Given the description of an element on the screen output the (x, y) to click on. 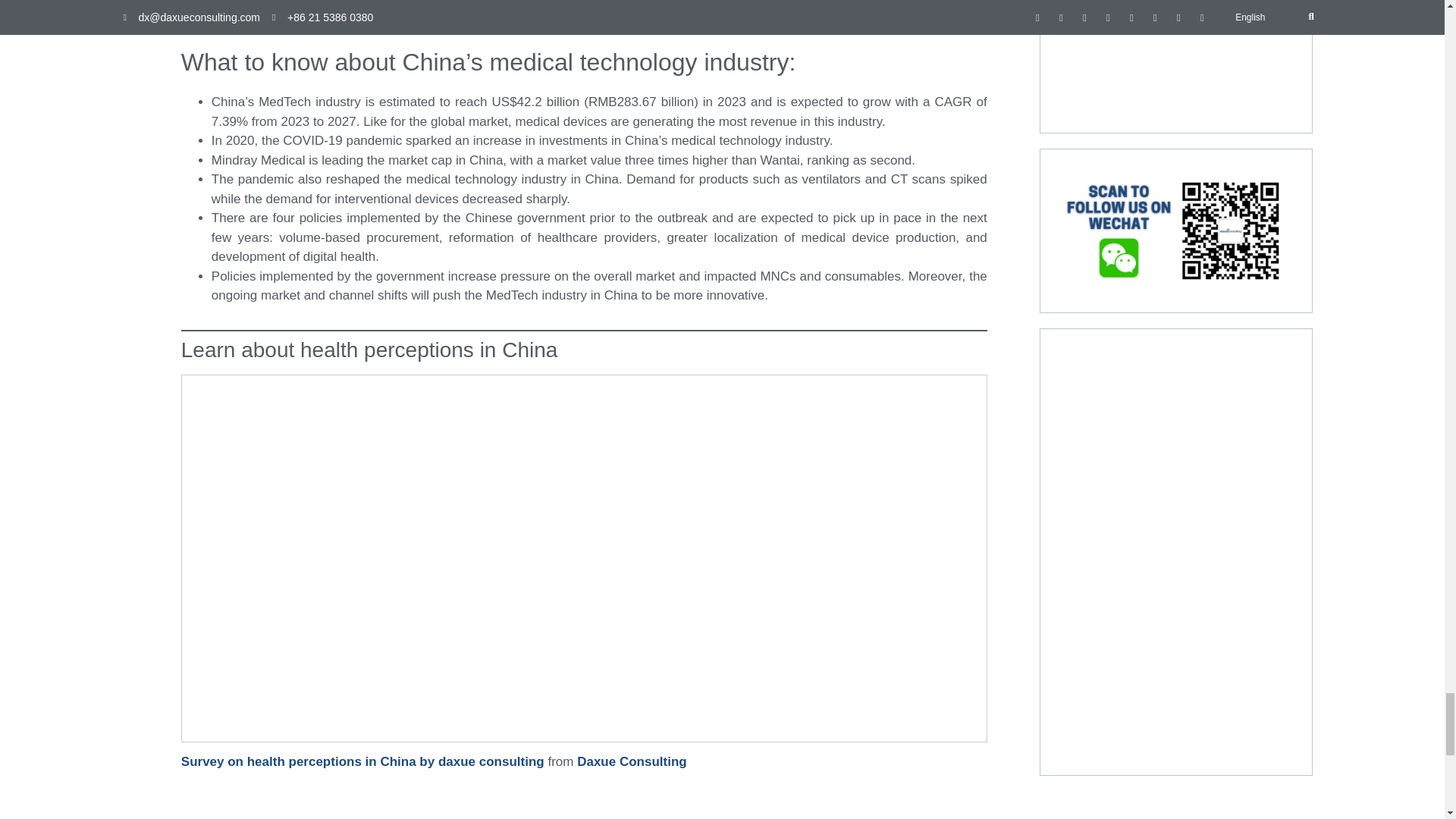
Survey on health perceptions in China by daxue consulting (362, 761)
